Given the description of an element on the screen output the (x, y) to click on. 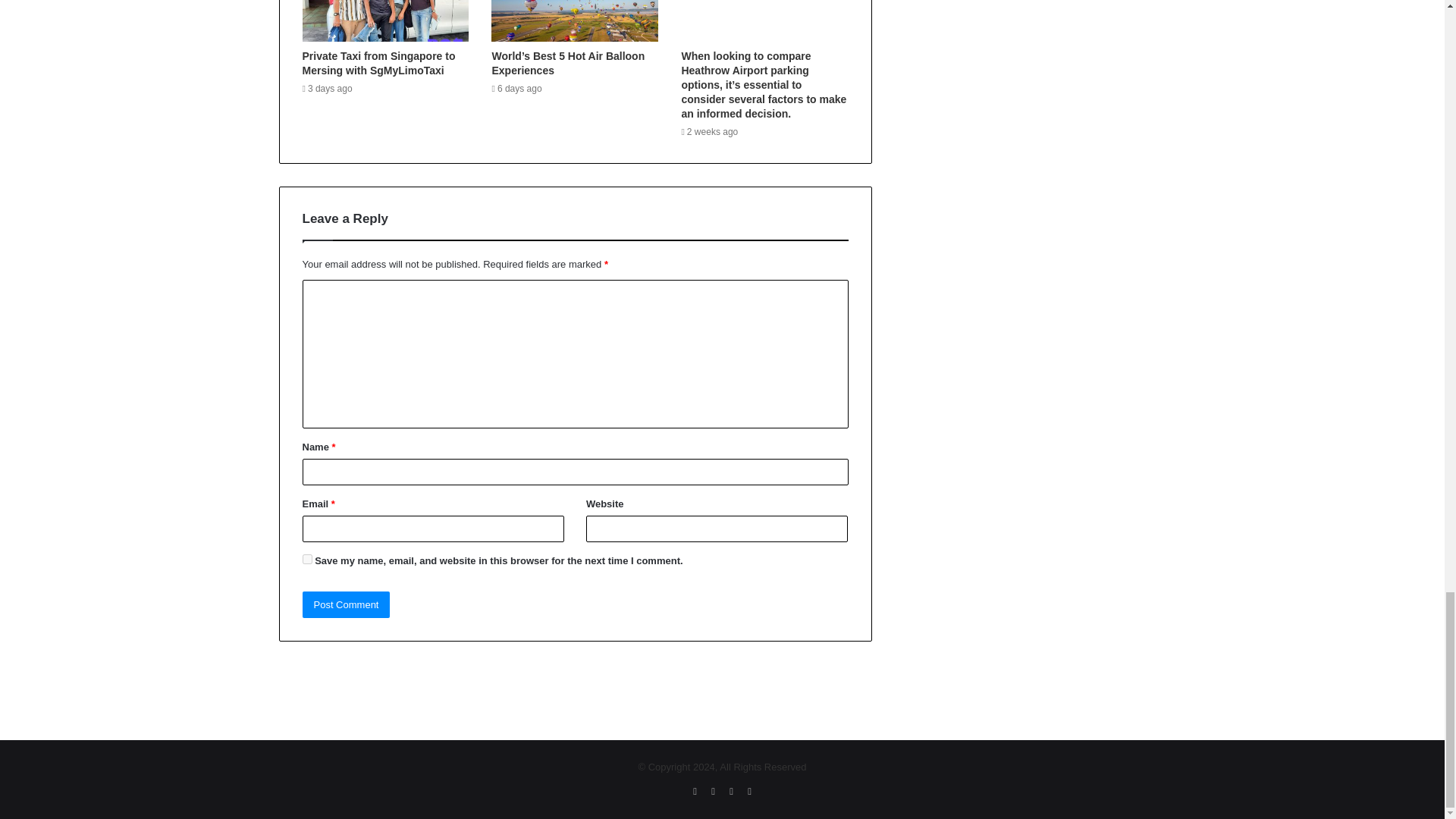
Private Taxi from Singapore to Mersing with SgMyLimoTaxi (377, 62)
Post Comment (345, 604)
Post Comment (345, 604)
yes (306, 559)
